Given the description of an element on the screen output the (x, y) to click on. 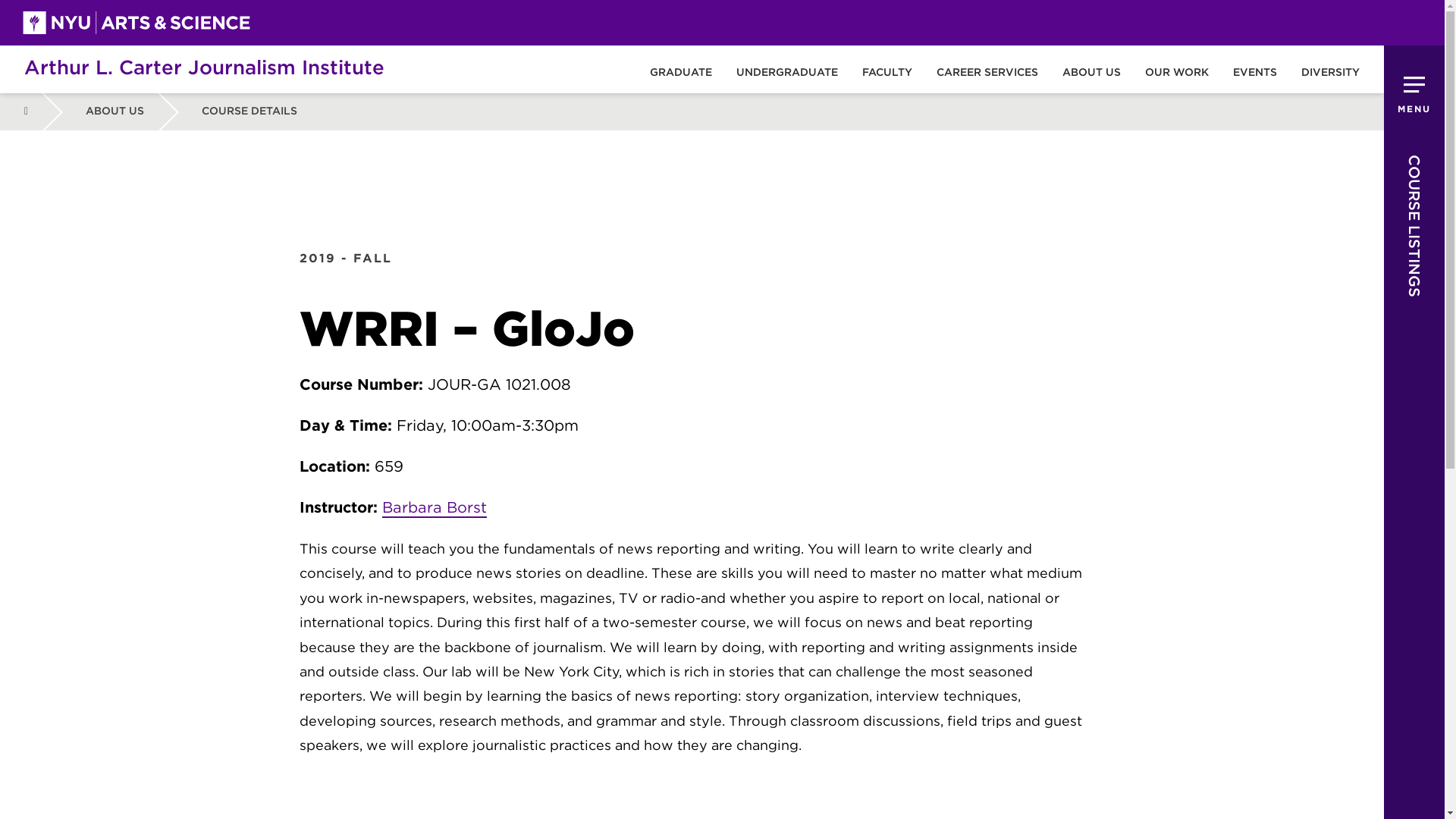
GRADUATE (680, 71)
UNDERGRADUATE (787, 71)
Arthur L. Carter Journalism Institute (204, 69)
